Given the description of an element on the screen output the (x, y) to click on. 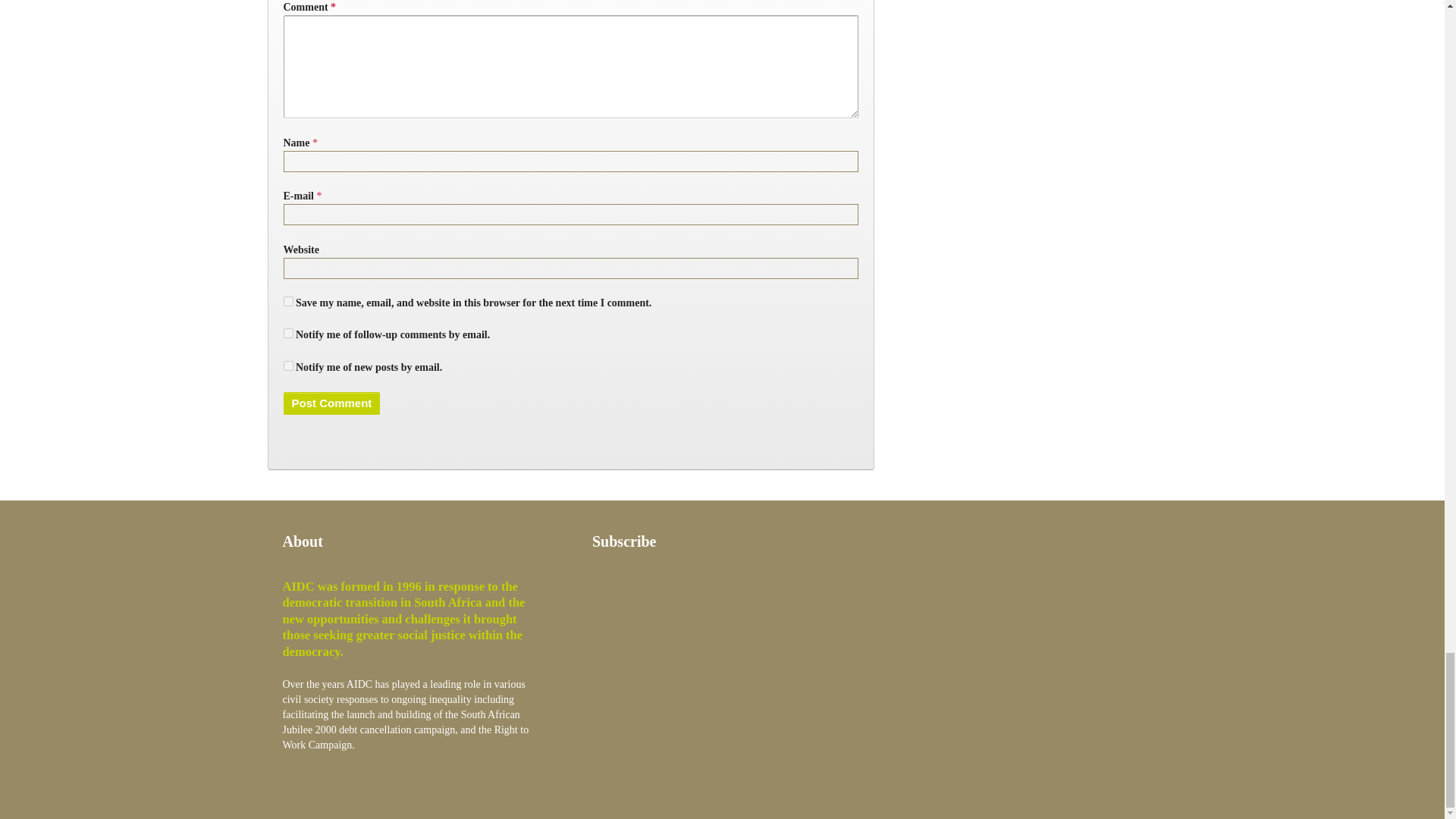
subscribe (288, 366)
Post Comment (331, 403)
subscribe (288, 333)
yes (288, 301)
